Given the description of an element on the screen output the (x, y) to click on. 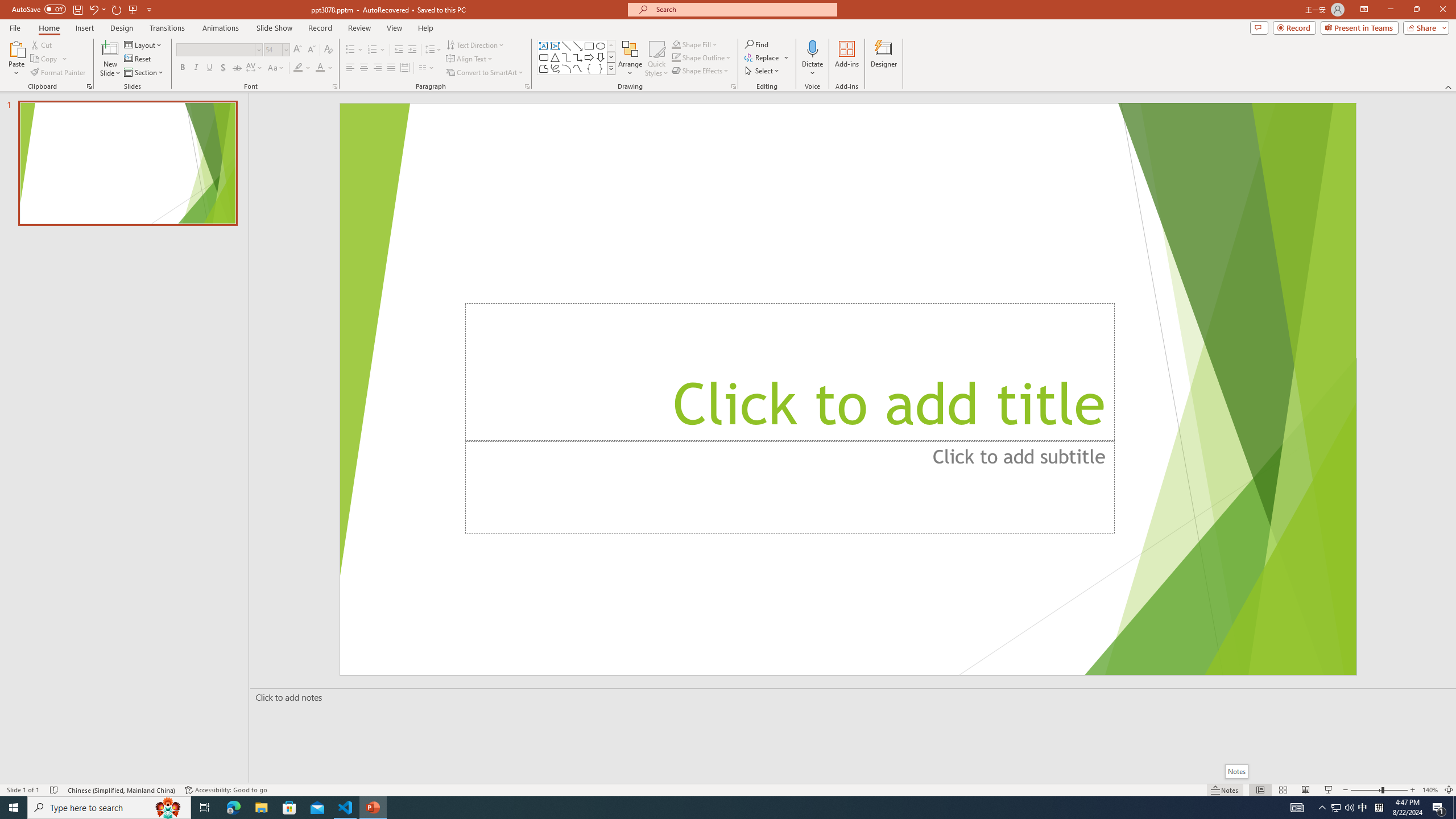
Accessibility Checker Accessibility: Good to go (226, 790)
